Given the description of an element on the screen output the (x, y) to click on. 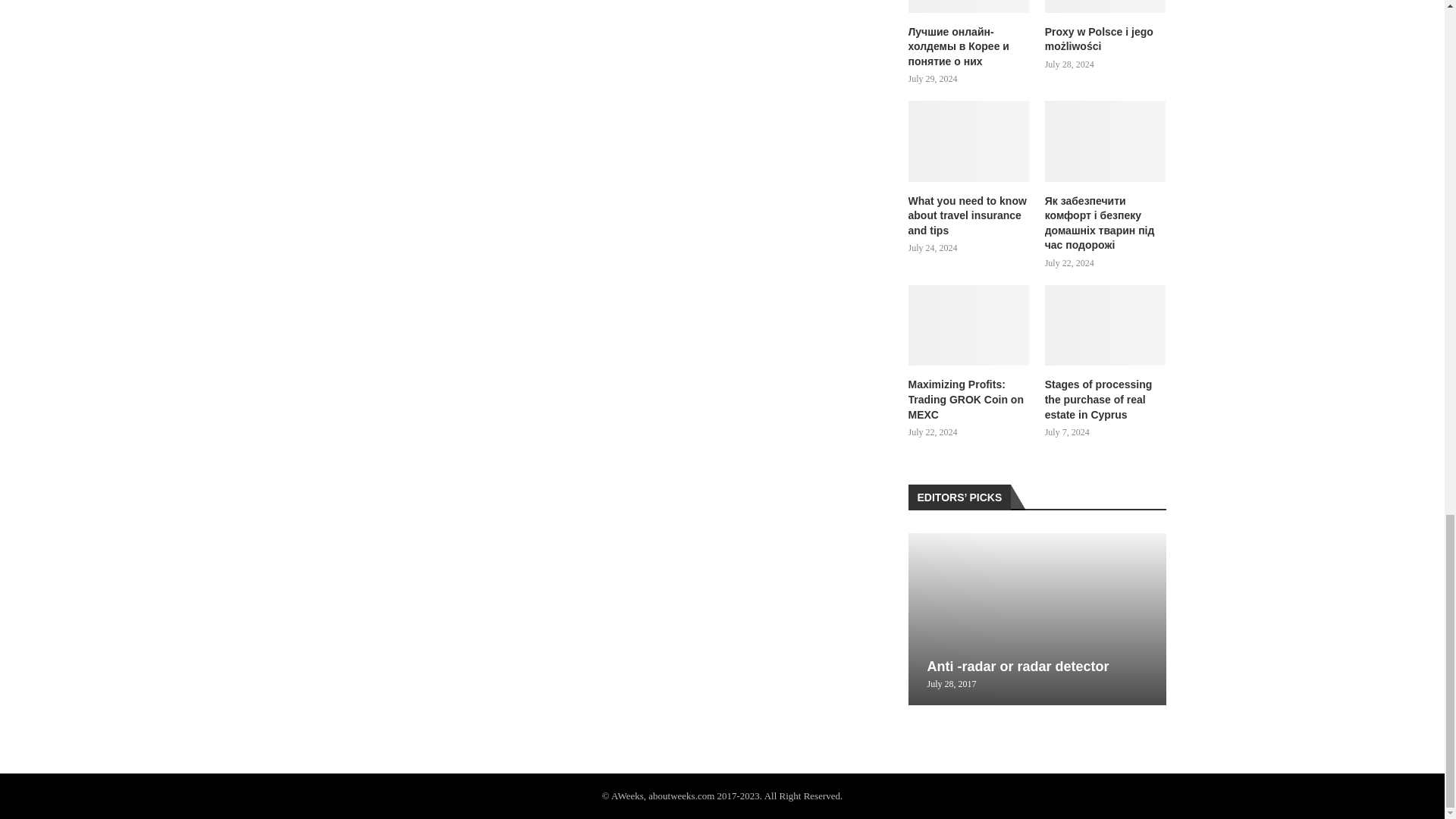
Anti -radar or radar detector (1037, 619)
Maximizing Profits: Trading GROK Coin on MEXC (968, 325)
What you need to know about travel insurance and tips (968, 216)
Stages of processing the purchase of real estate in Cyprus (1105, 325)
Maximizing Profits: Trading GROK Coin on MEXC (968, 399)
What you need to know about travel insurance and tips (968, 140)
Stages of processing the purchase of real estate in Cyprus (1105, 399)
Anti -radar or radar detector (1017, 666)
